Given the description of an element on the screen output the (x, y) to click on. 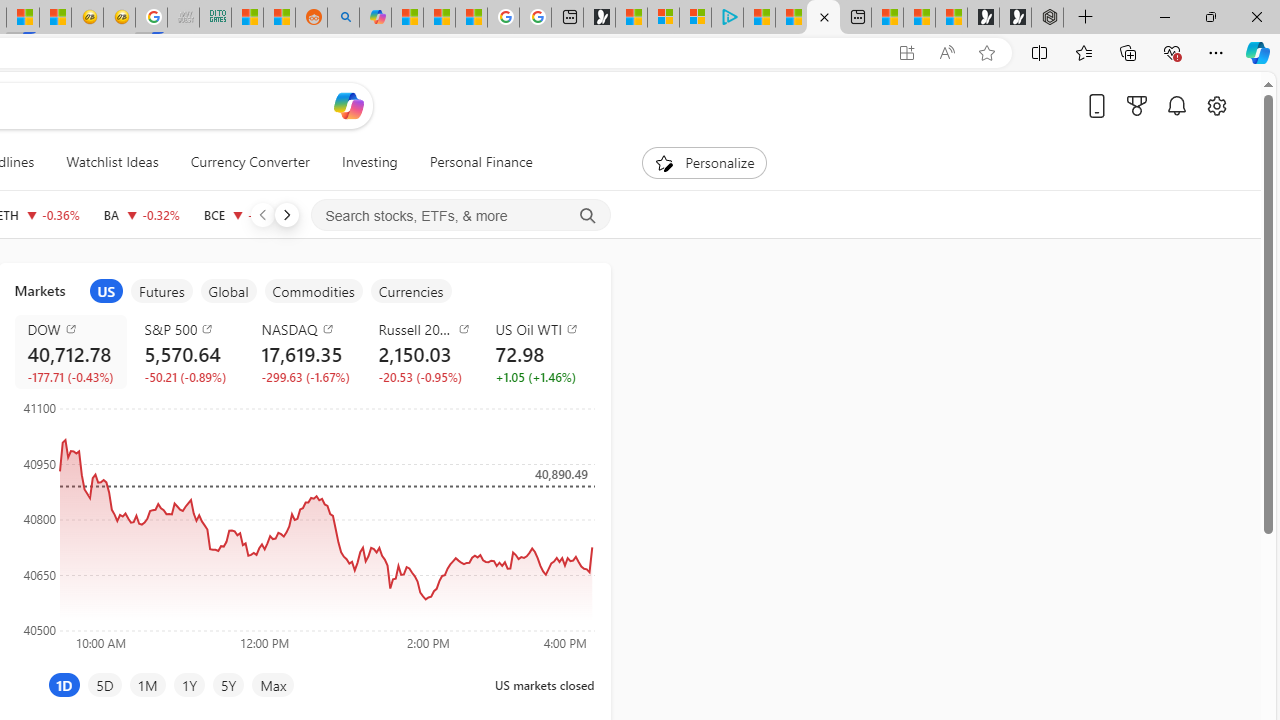
item5 (410, 291)
DOW (73, 328)
item2 (161, 291)
US Oil WTI USOIL increase 72.98 +1.05 +1.46% (538, 351)
1D (64, 684)
Russell 2000 RUT decrease 2,150.03 -20.53 -0.95% (420, 351)
Notifications (1176, 105)
Investing (369, 162)
item4 (313, 291)
